Given the description of an element on the screen output the (x, y) to click on. 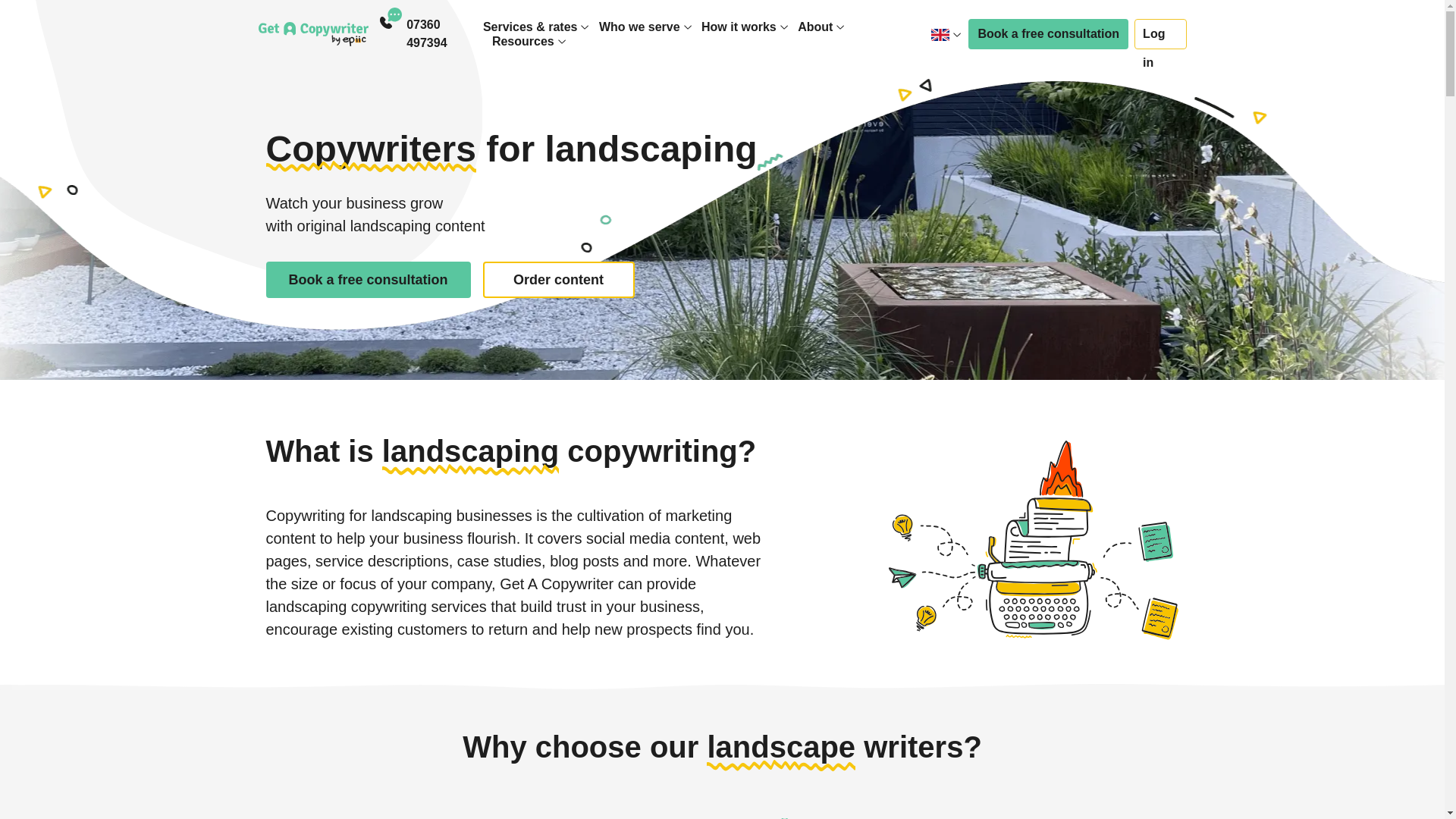
phone number (444, 33)
About (814, 26)
Resources (523, 41)
07360 497394 (444, 33)
How it works (738, 26)
Who we serve (638, 26)
Get a copywriter (312, 33)
